Given the description of an element on the screen output the (x, y) to click on. 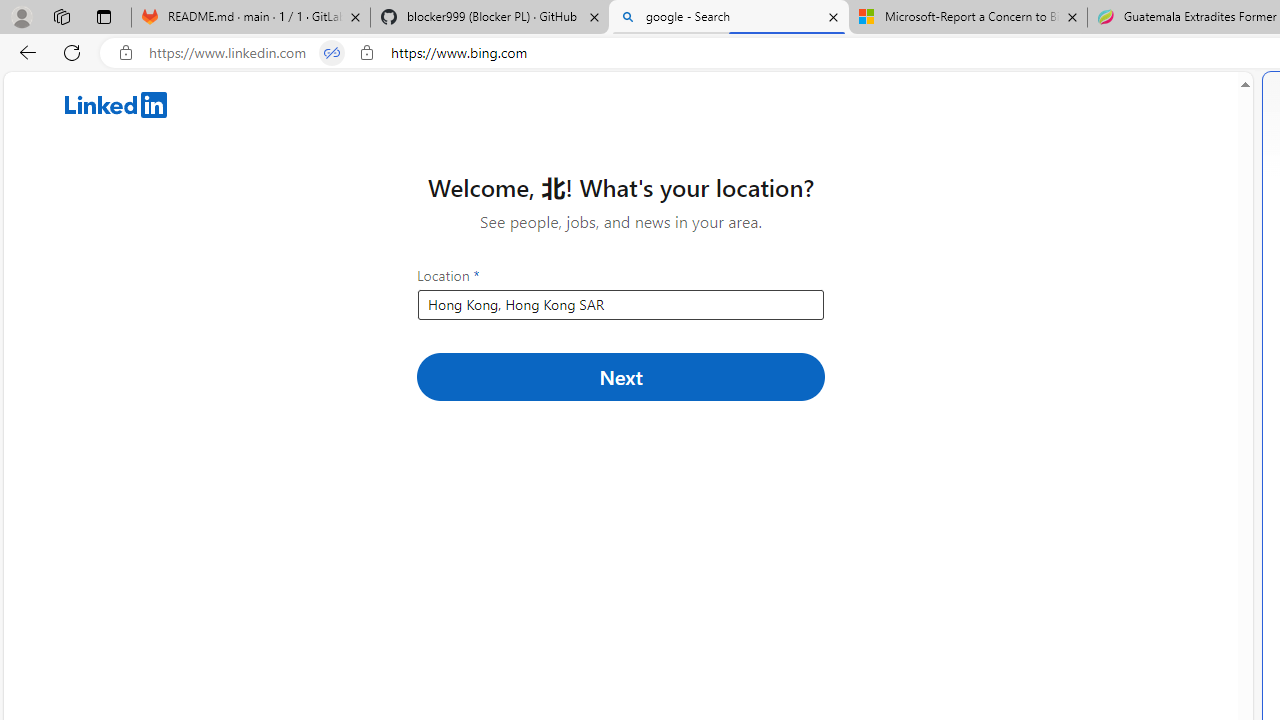
Tabs in split screen (331, 53)
